Given the description of an element on the screen output the (x, y) to click on. 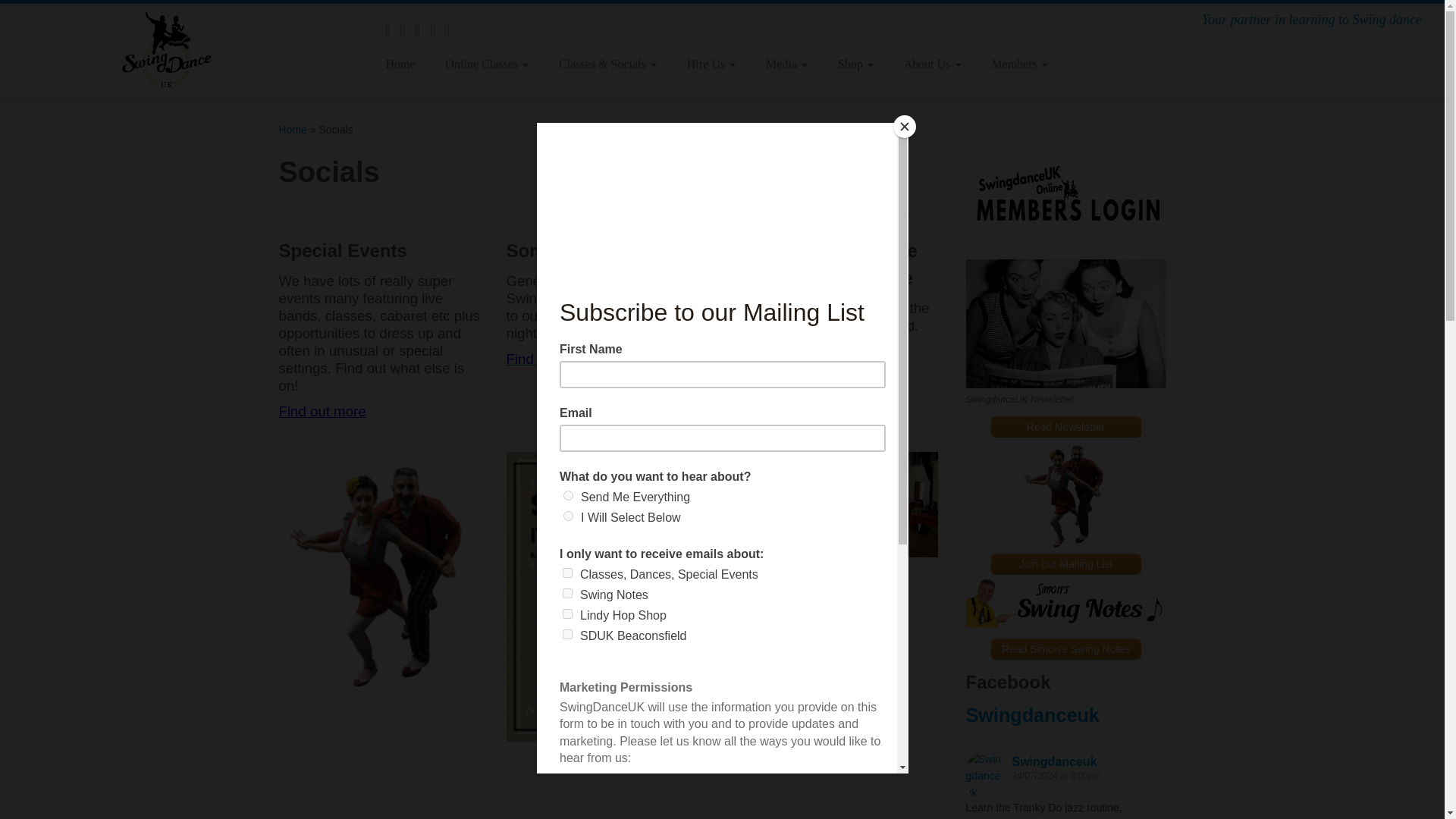
Follow me on YouTube (407, 29)
Follow me on Facebook (392, 29)
Email us (452, 29)
Follow me on Twitter (422, 29)
Hire Us (711, 64)
SwingdanceUK (293, 129)
curzon (836, 504)
Home (405, 64)
Follow us on Instagram (437, 29)
Online Classes (487, 64)
